Given the description of an element on the screen output the (x, y) to click on. 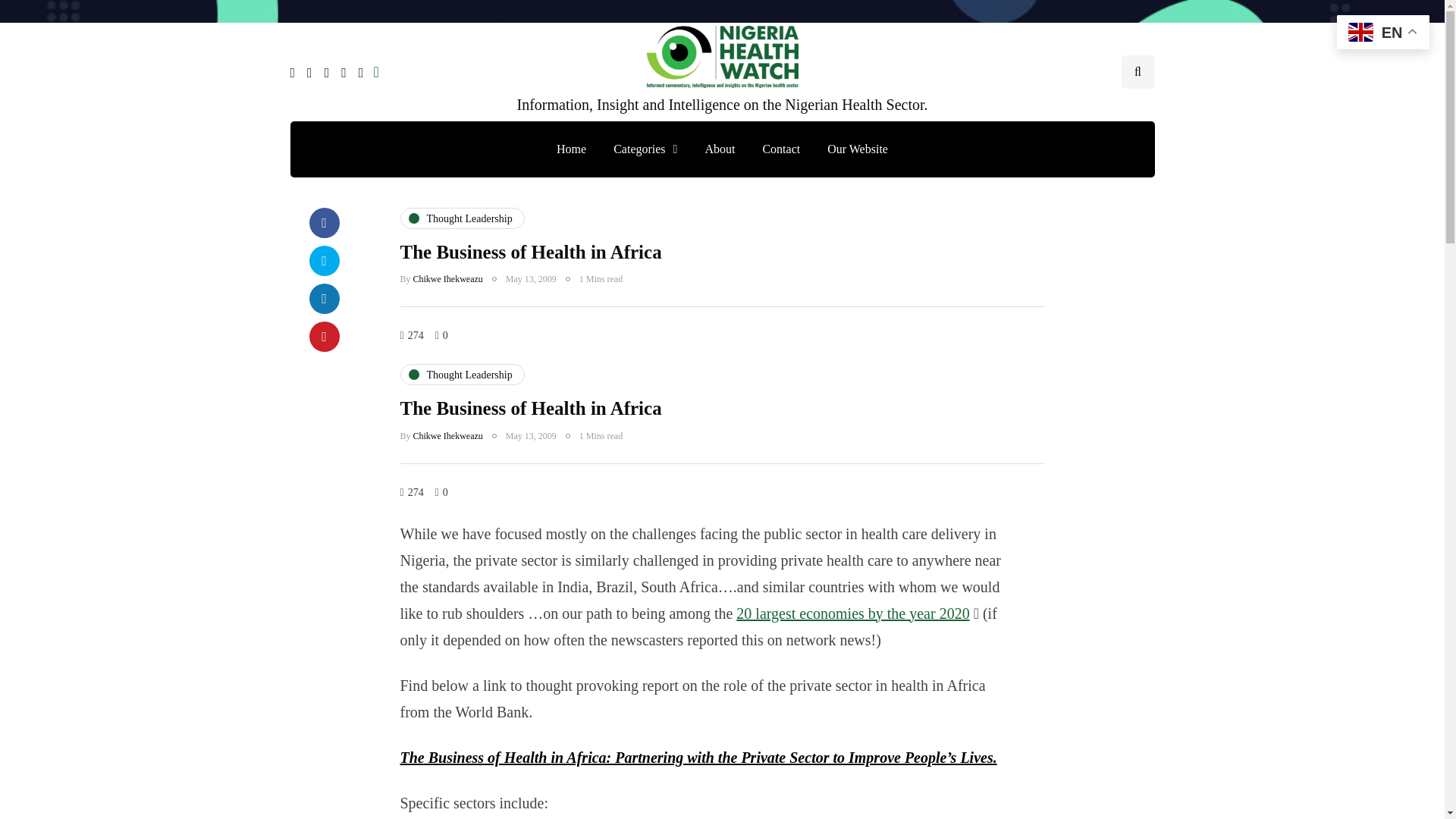
Chikwe Ihekweazu (448, 278)
Contact (780, 149)
Posts by Chikwe Ihekweazu (448, 278)
Chikwe Ihekweazu (448, 435)
Categories (644, 149)
20 largest economies by the year 2020 (852, 613)
Thought Leadership (462, 218)
Share with Facebook (323, 223)
Thought Leadership (462, 373)
Home (571, 149)
Tweet this (323, 260)
Posts by Chikwe Ihekweazu (448, 435)
Share with LinkedIn (323, 298)
Pin this (323, 336)
About (719, 149)
